Given the description of an element on the screen output the (x, y) to click on. 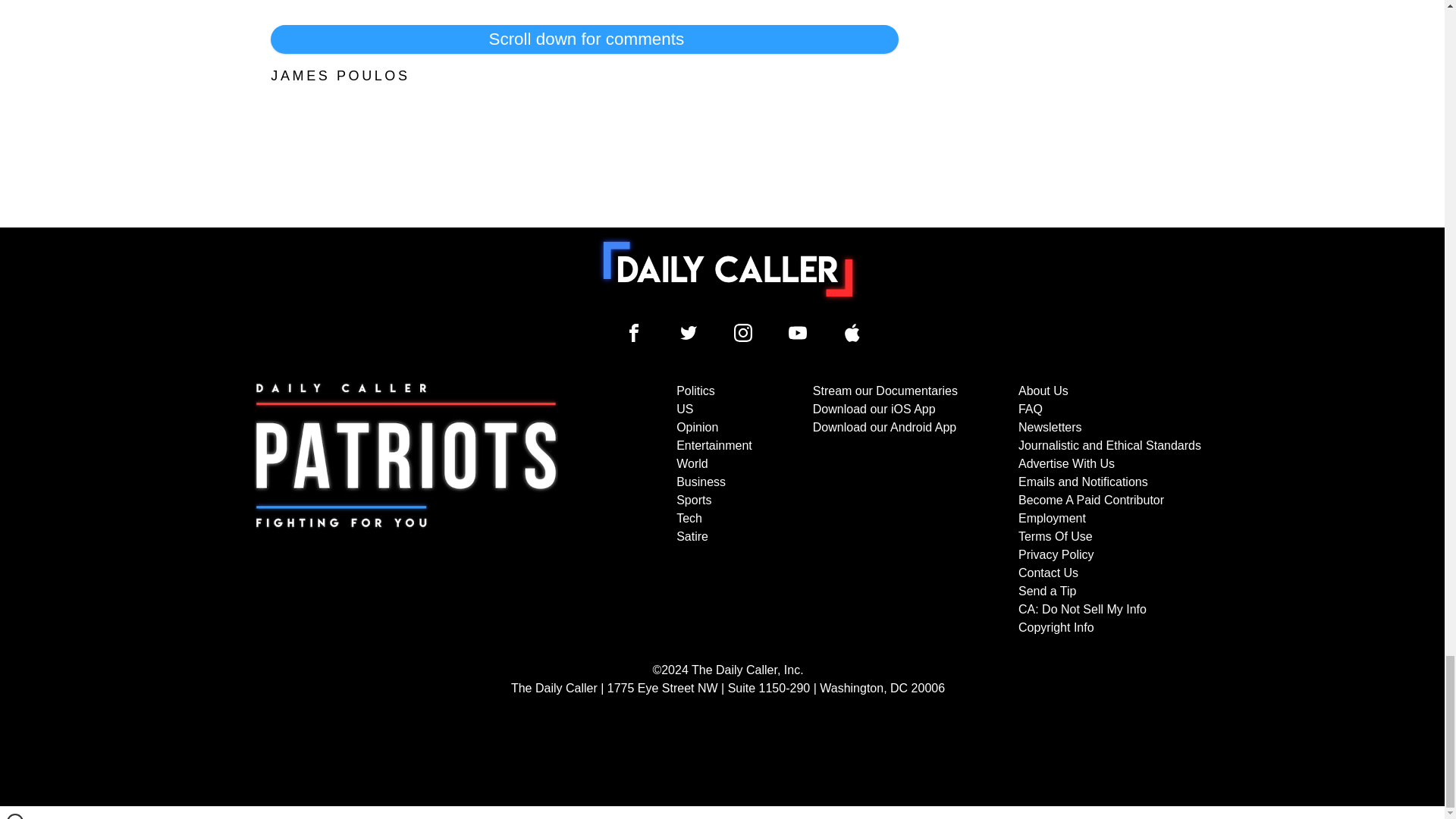
Daily Caller YouTube (852, 332)
Daily Caller Twitter (688, 332)
Scroll down for comments (584, 39)
Subscribe to The Daily Caller (405, 509)
Daily Caller Instagram (742, 332)
To home page (727, 268)
Daily Caller YouTube (797, 332)
Daily Caller Facebook (633, 332)
